Given the description of an element on the screen output the (x, y) to click on. 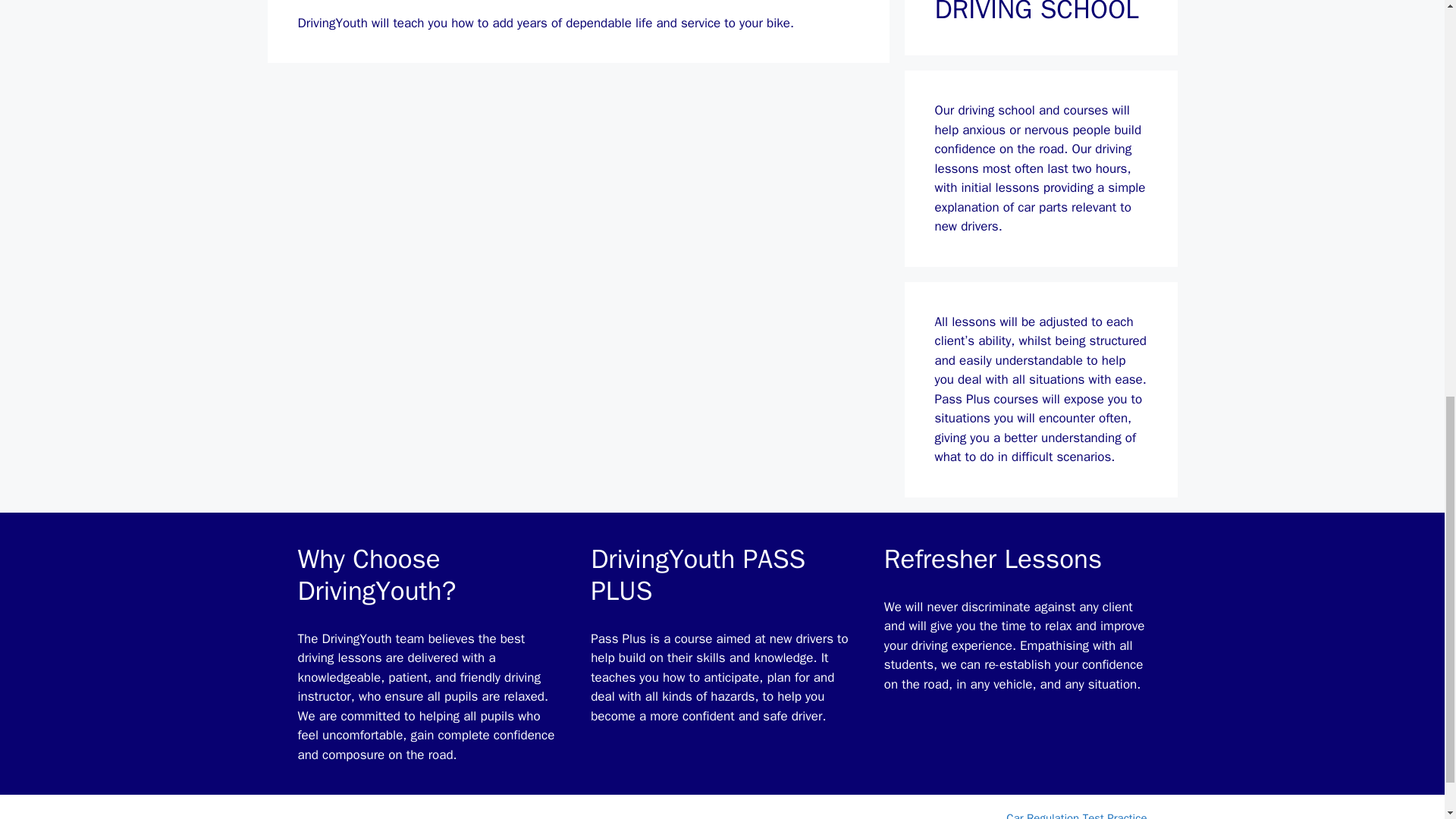
Scroll back to top (1406, 720)
